Given the description of an element on the screen output the (x, y) to click on. 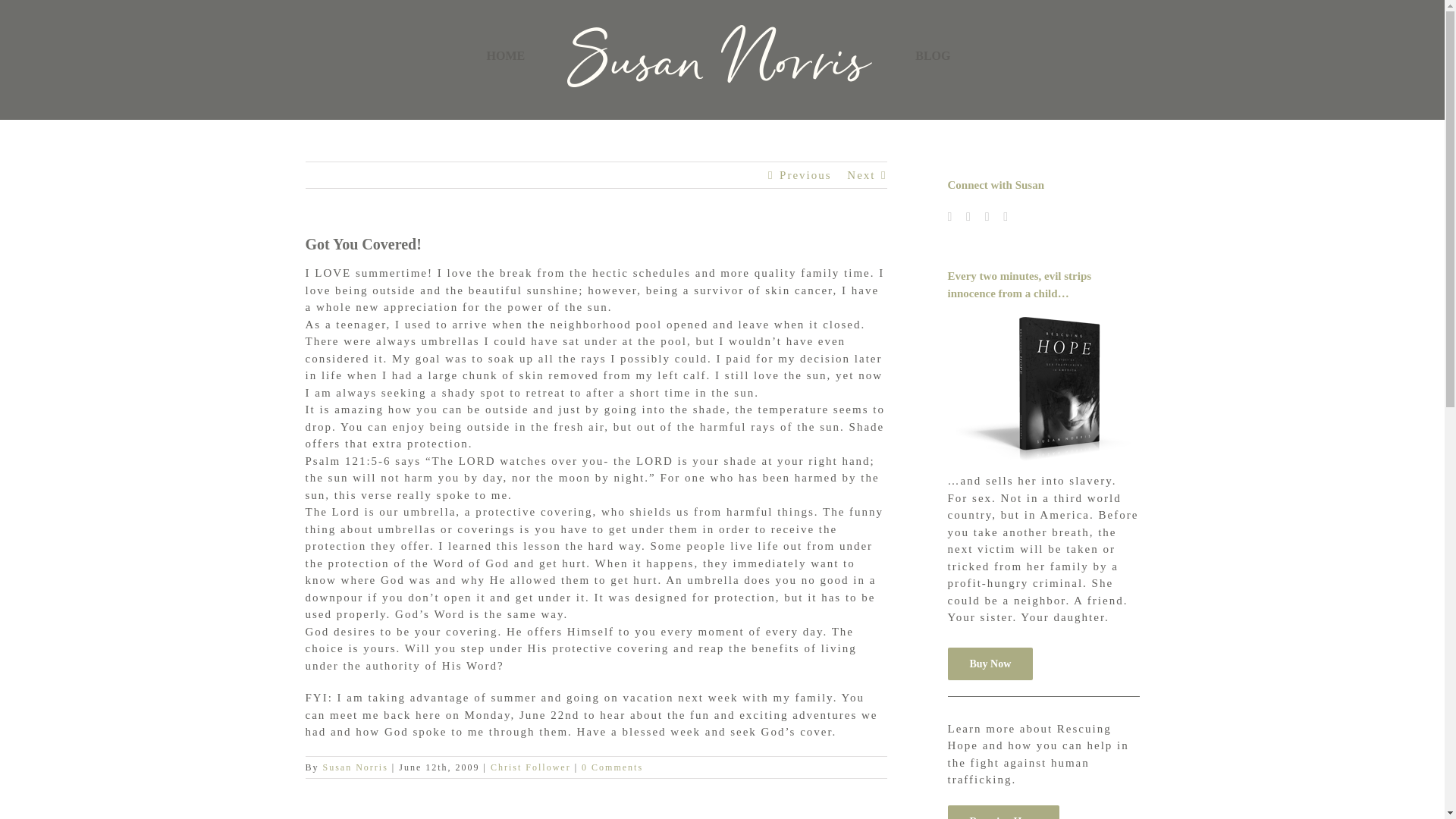
0 Comments (611, 767)
Next (861, 175)
Susan Norris (355, 767)
Posts by Susan Norris (355, 767)
Previous (804, 175)
Christ Follower (530, 767)
